Given the description of an element on the screen output the (x, y) to click on. 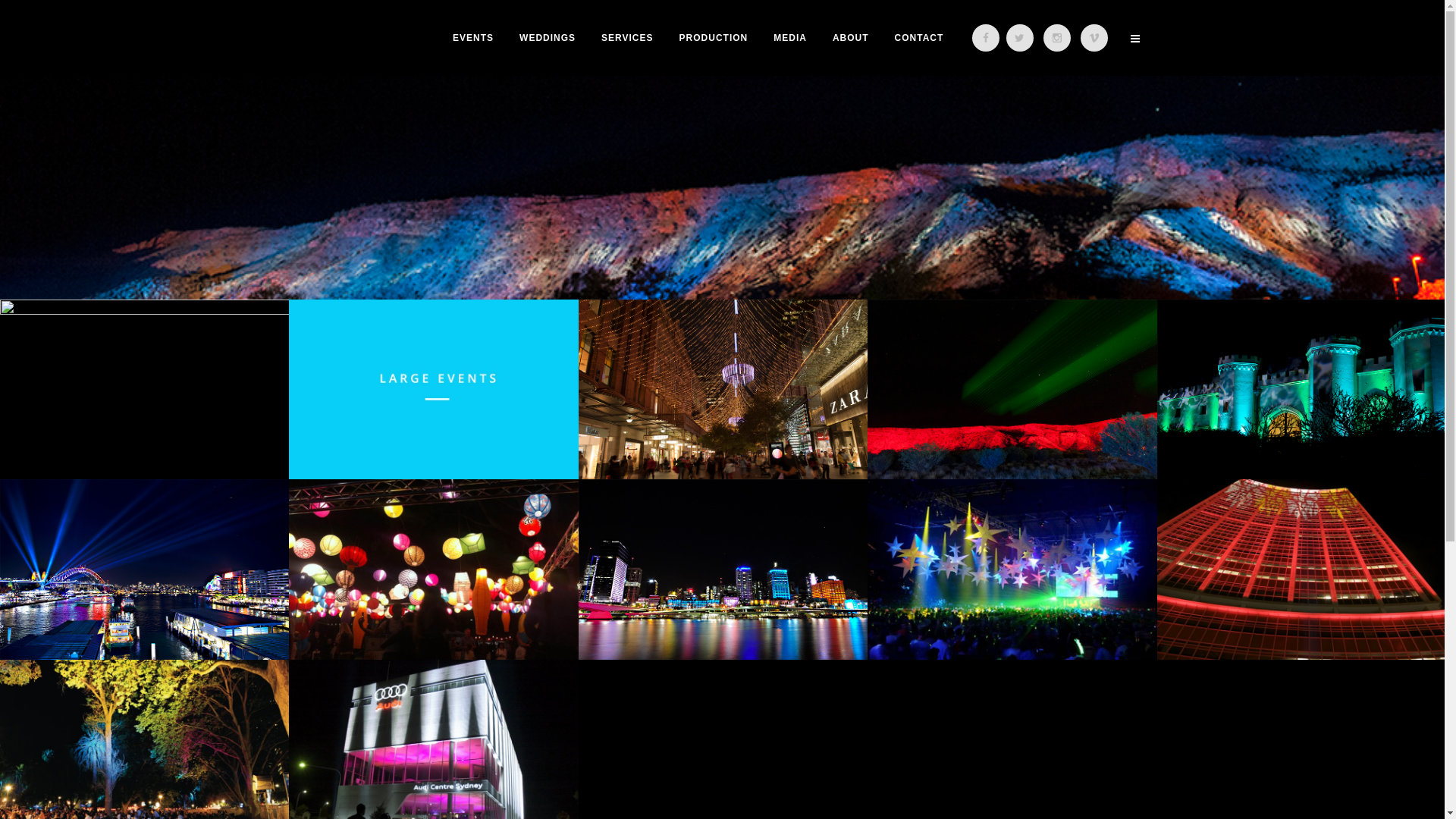
SERVICES Element type: text (626, 37)
ABOUT Element type: text (850, 37)
EVENTS Element type: text (472, 37)
PRODUCTION Element type: text (713, 37)
WEDDINGS Element type: text (547, 37)
MEDIA Element type: text (789, 37)
CONTACT Element type: text (919, 37)
